Given the description of an element on the screen output the (x, y) to click on. 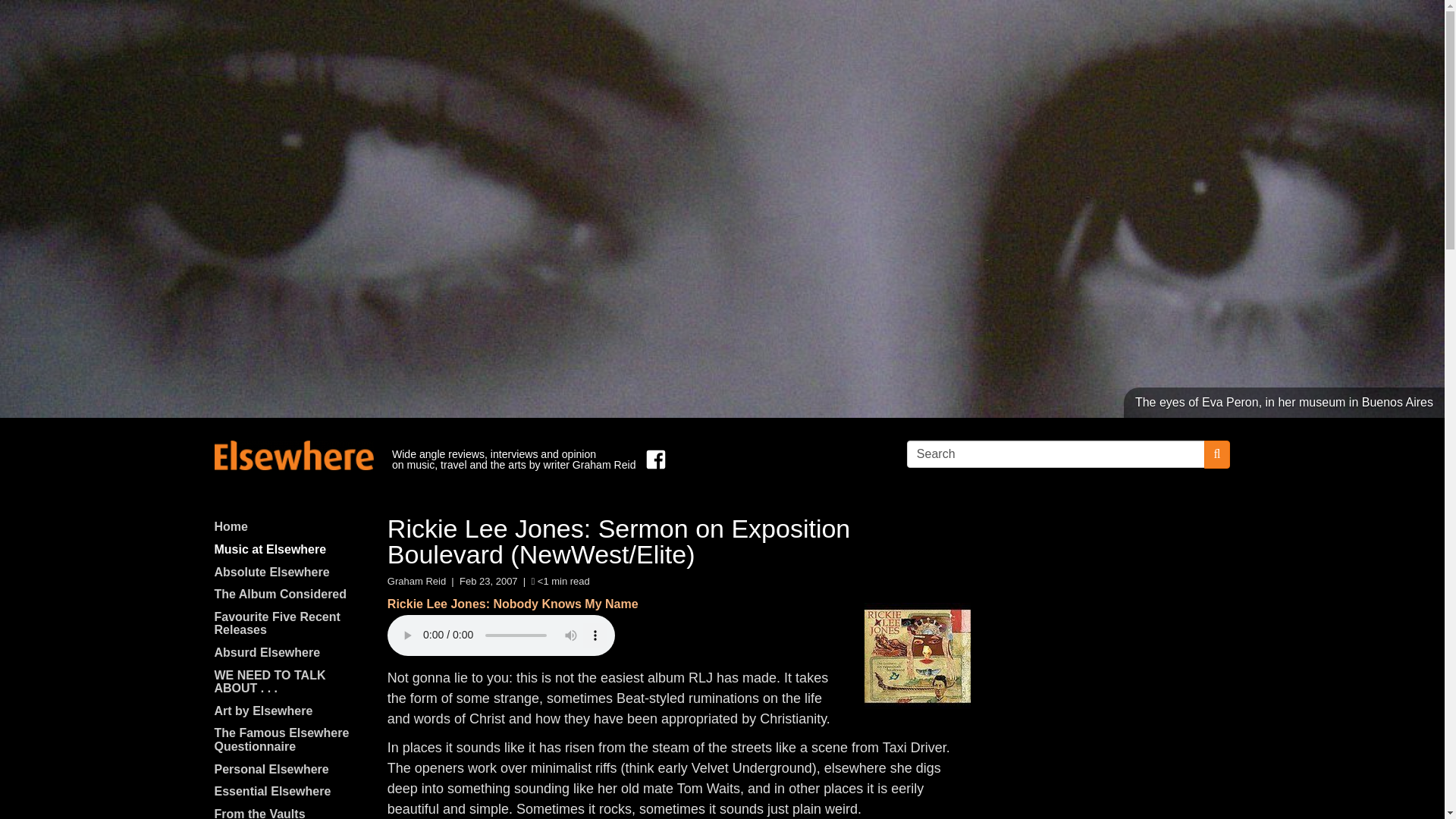
Search (1056, 453)
Elsewhere by Graham Reid (293, 455)
Find us on Facebook (652, 459)
Search (1056, 453)
